Given the description of an element on the screen output the (x, y) to click on. 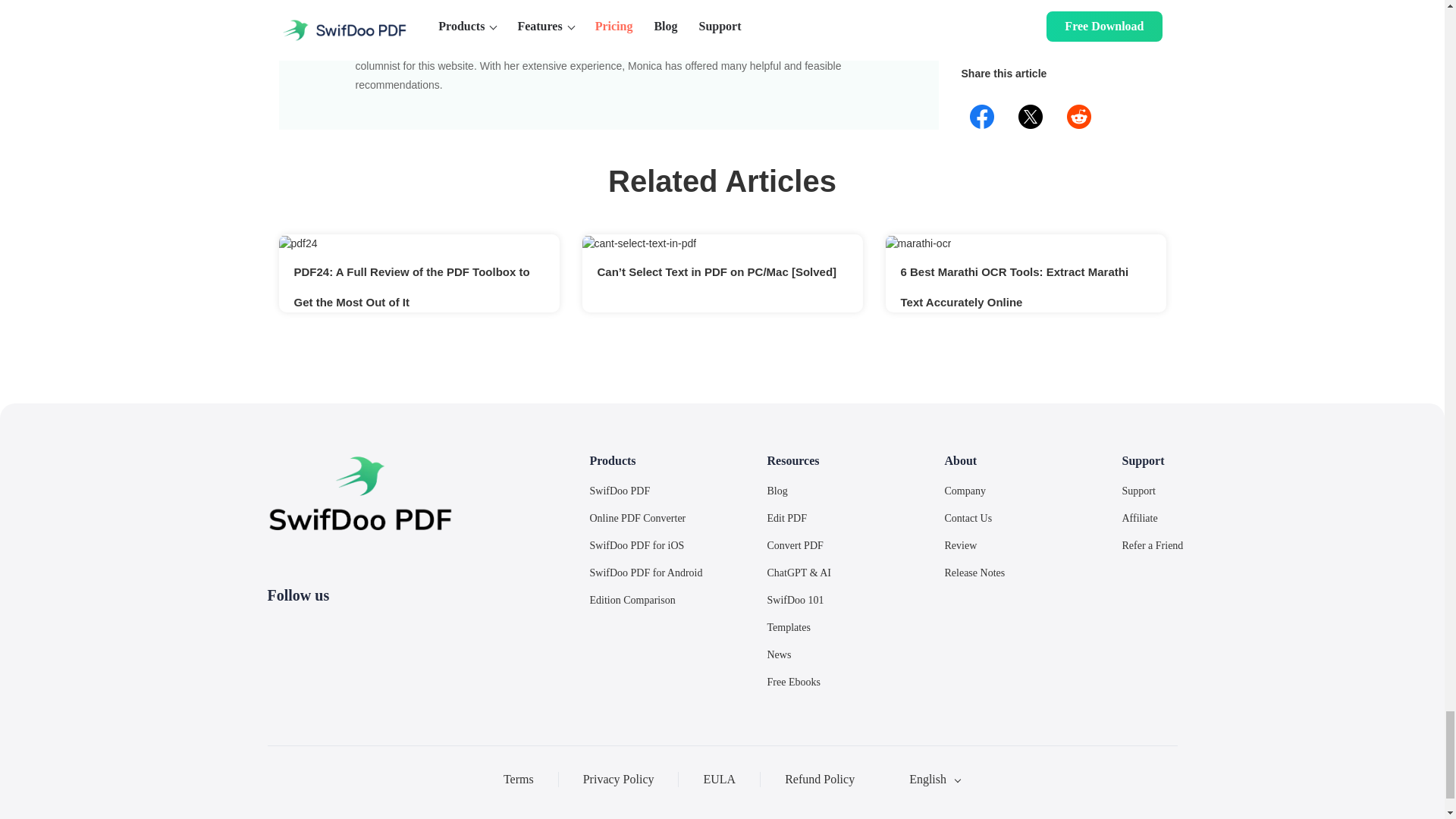
YouTube (386, 628)
